Given the description of an element on the screen output the (x, y) to click on. 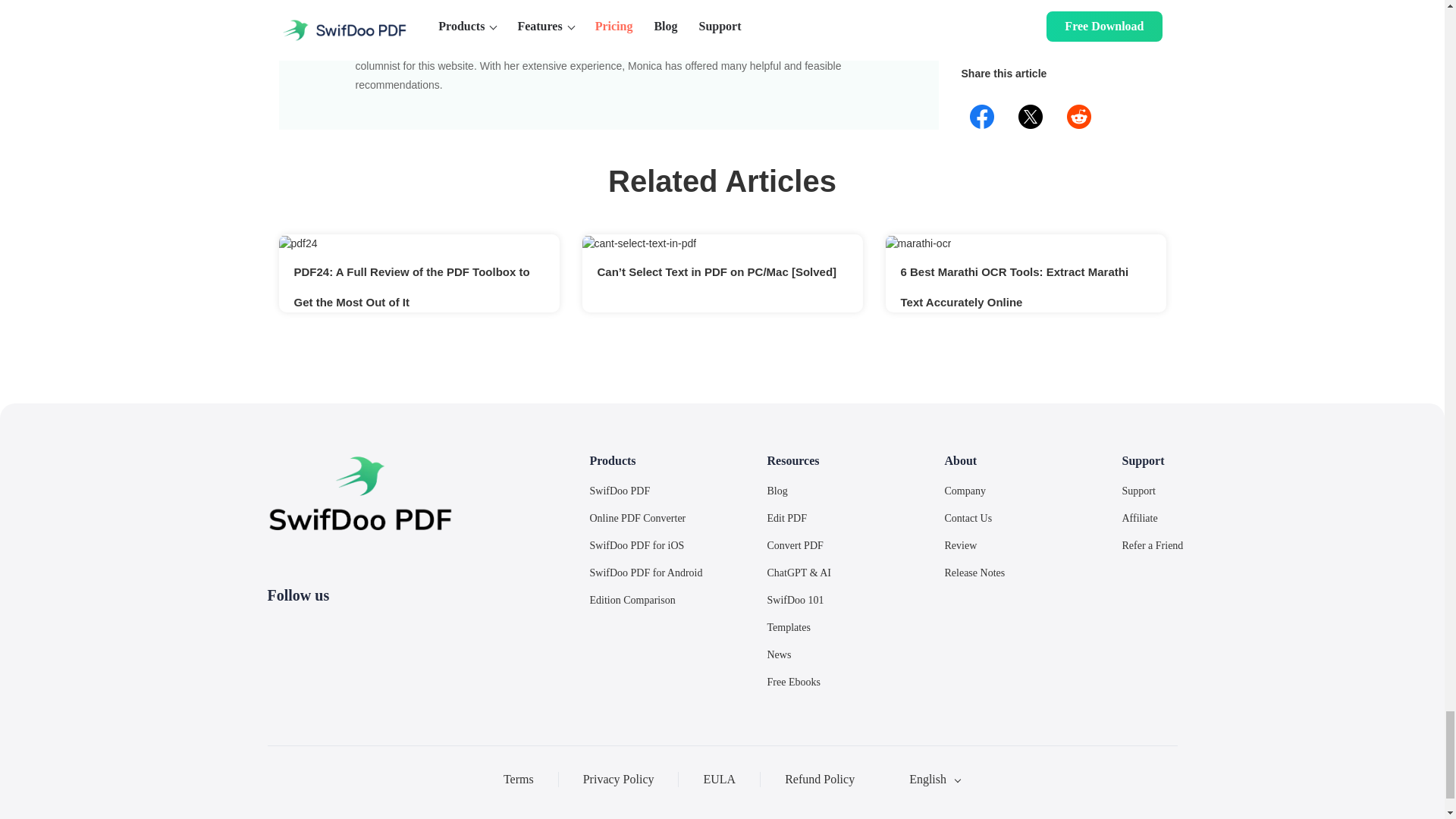
YouTube (386, 628)
